Given the description of an element on the screen output the (x, y) to click on. 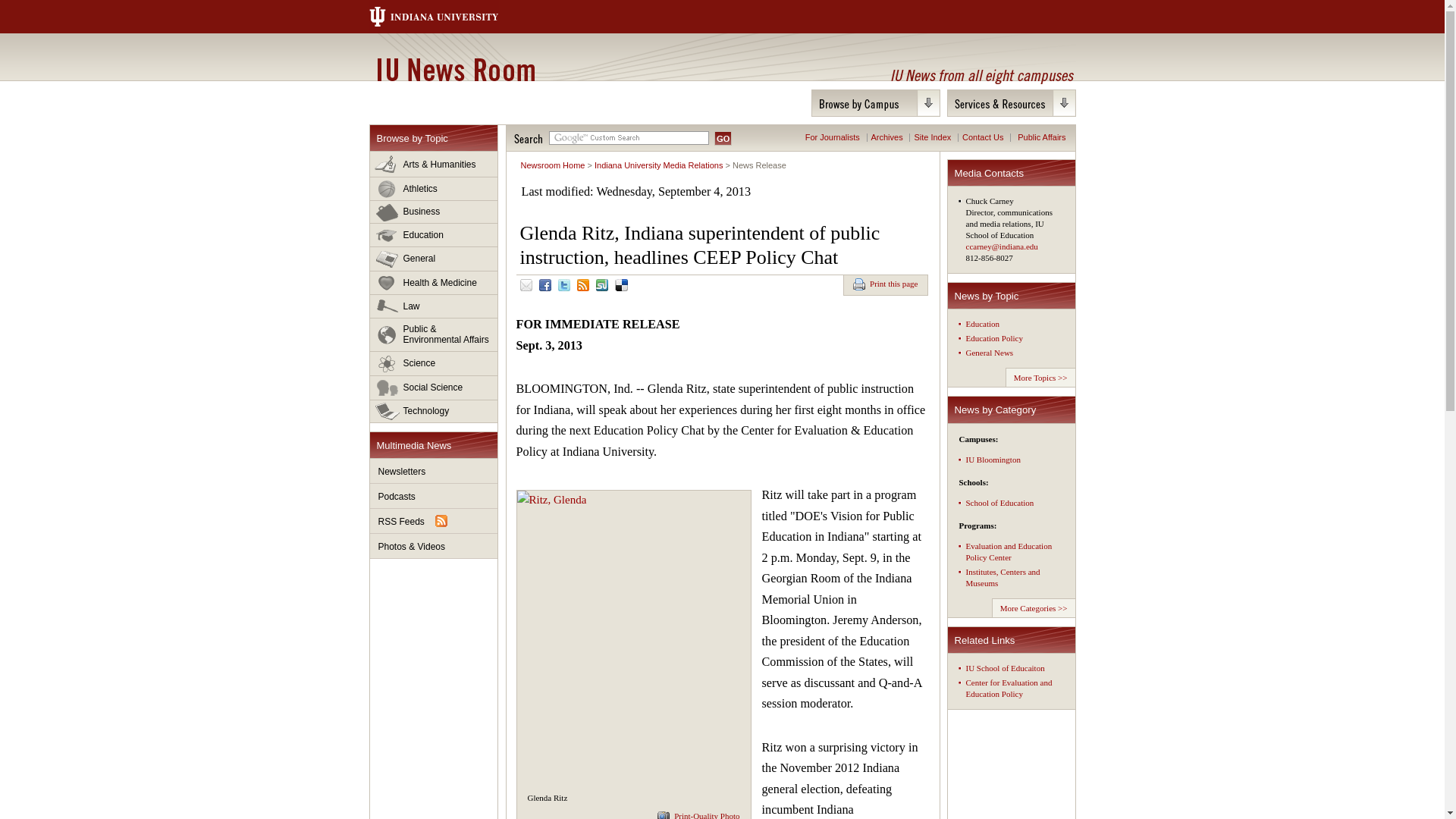
Social Science (433, 387)
RSS Feeds (433, 520)
General (433, 259)
Education (433, 235)
General (433, 259)
Podcasts (433, 496)
Newsletters (433, 471)
Technology (433, 411)
Business (433, 211)
Education (433, 235)
